Given the description of an element on the screen output the (x, y) to click on. 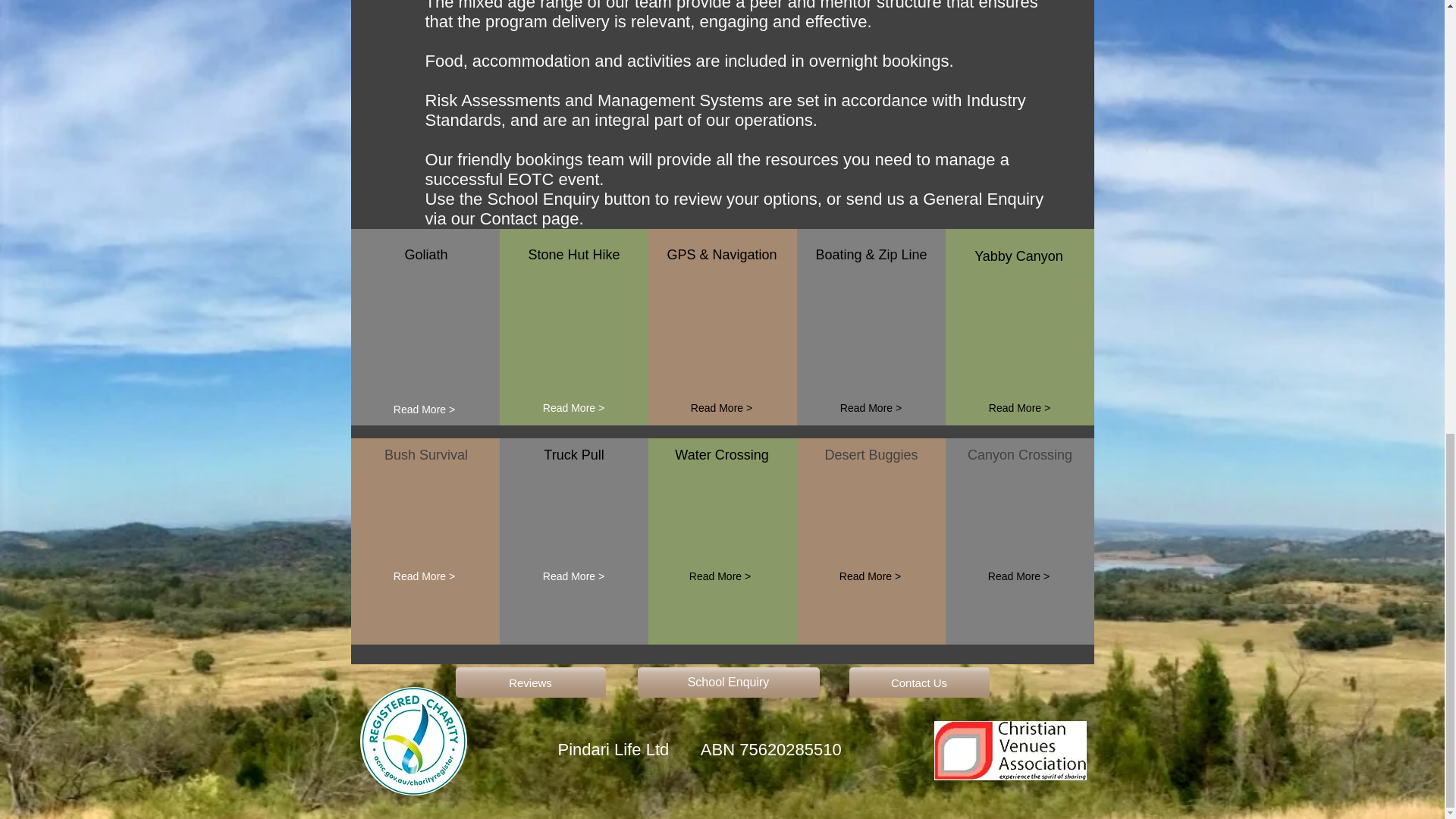
School Enquiry (727, 682)
Reviews (529, 682)
Contact Us (919, 682)
